Given the description of an element on the screen output the (x, y) to click on. 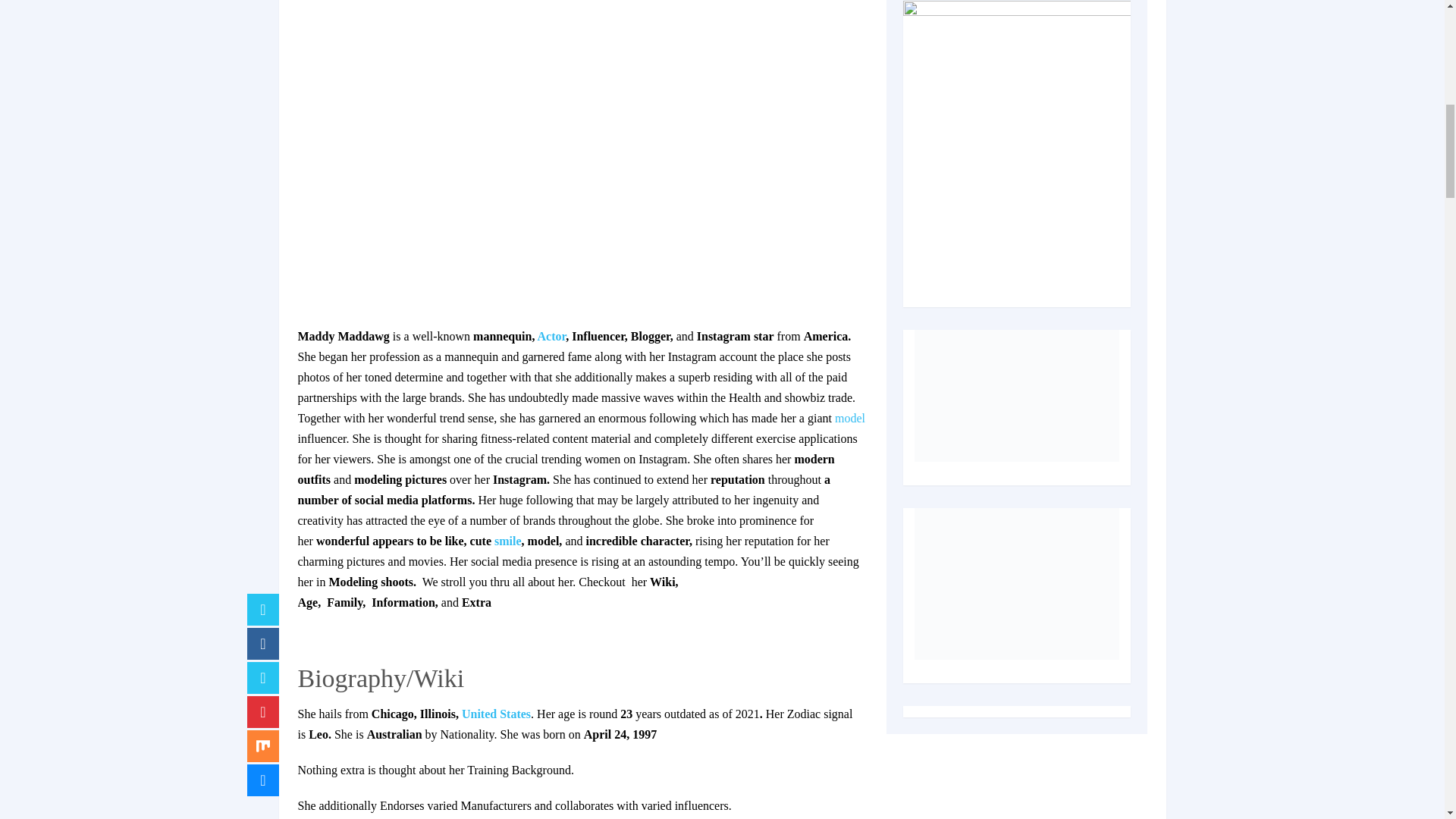
Max Ehrich Wiki (496, 713)
smile (508, 540)
Actor (551, 336)
model (849, 418)
Joanna Page Wiki (508, 540)
Antje Utgaard Wiki (849, 418)
United States (496, 713)
Sam Asghari wiki (551, 336)
